Given the description of an element on the screen output the (x, y) to click on. 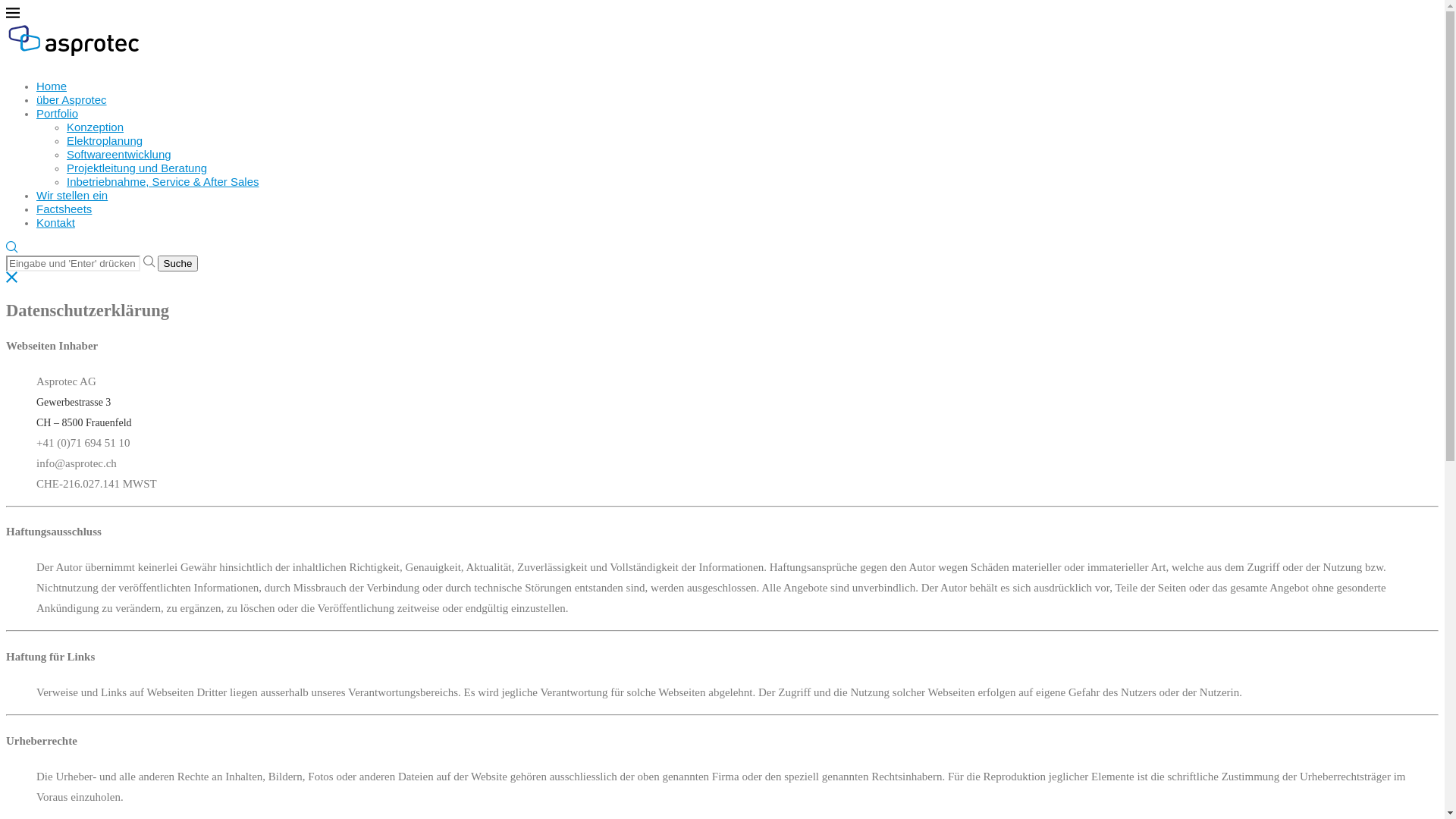
Projektleitung und Beratung Element type: text (136, 167)
Wir stellen ein Element type: text (71, 194)
Portfolio Element type: text (57, 112)
Elektroplanung Element type: text (104, 140)
Softwareentwicklung Element type: text (118, 153)
Home Element type: text (51, 85)
Factsheets Element type: text (63, 208)
Inbetriebnahme, Service & After Sales Element type: text (162, 181)
Suche Element type: text (177, 263)
Kontakt Element type: text (55, 222)
Konzeption Element type: text (94, 126)
